Given the description of an element on the screen output the (x, y) to click on. 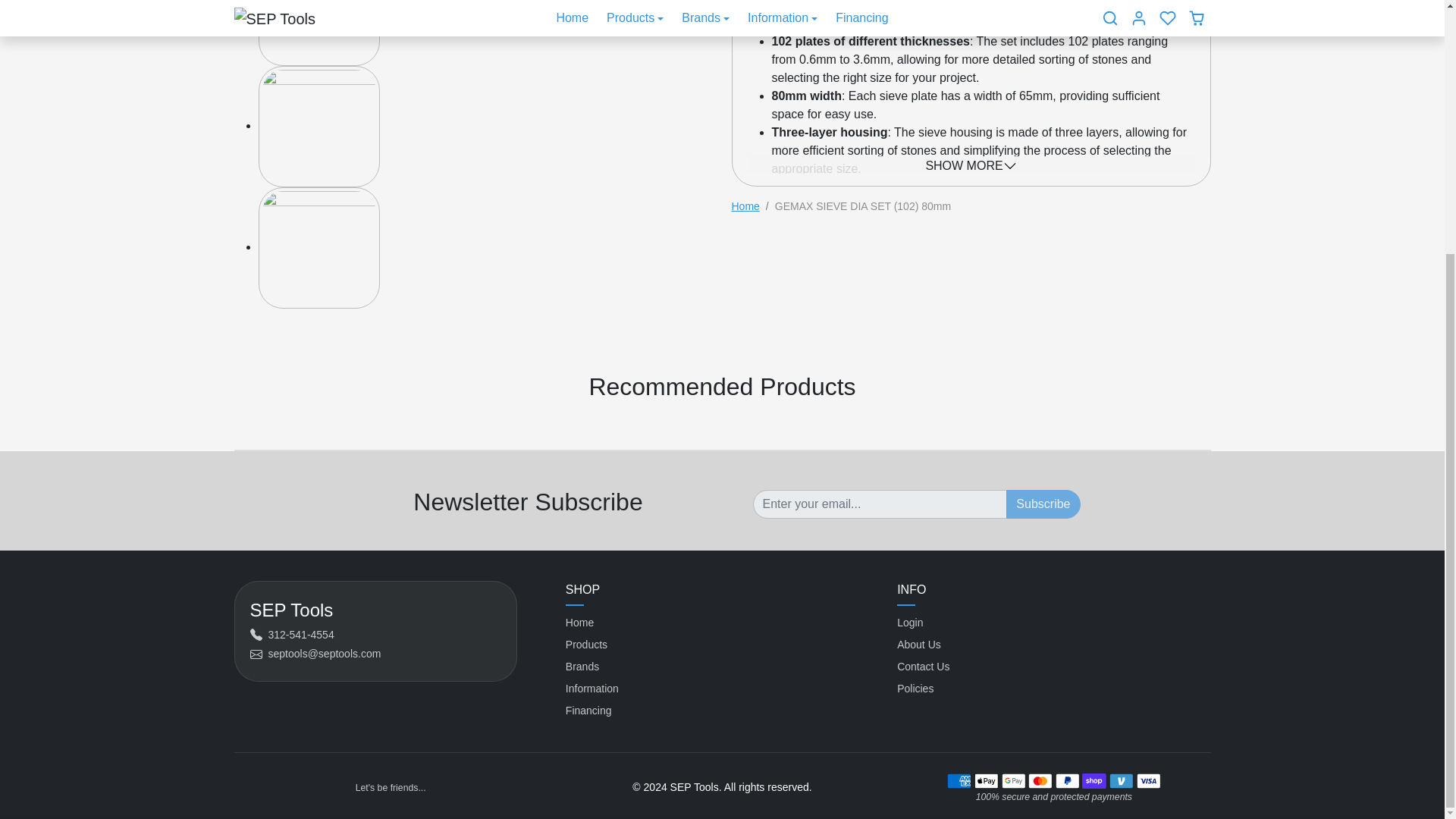
Mastercard (1039, 780)
American Express (959, 780)
Shop Pay (1093, 780)
Venmo (1120, 780)
Visa (1148, 780)
GooglePay (1012, 780)
ApplePay (986, 780)
Google Pay (1013, 780)
1 (817, 503)
ShopifyPay (1094, 780)
